Given the description of an element on the screen output the (x, y) to click on. 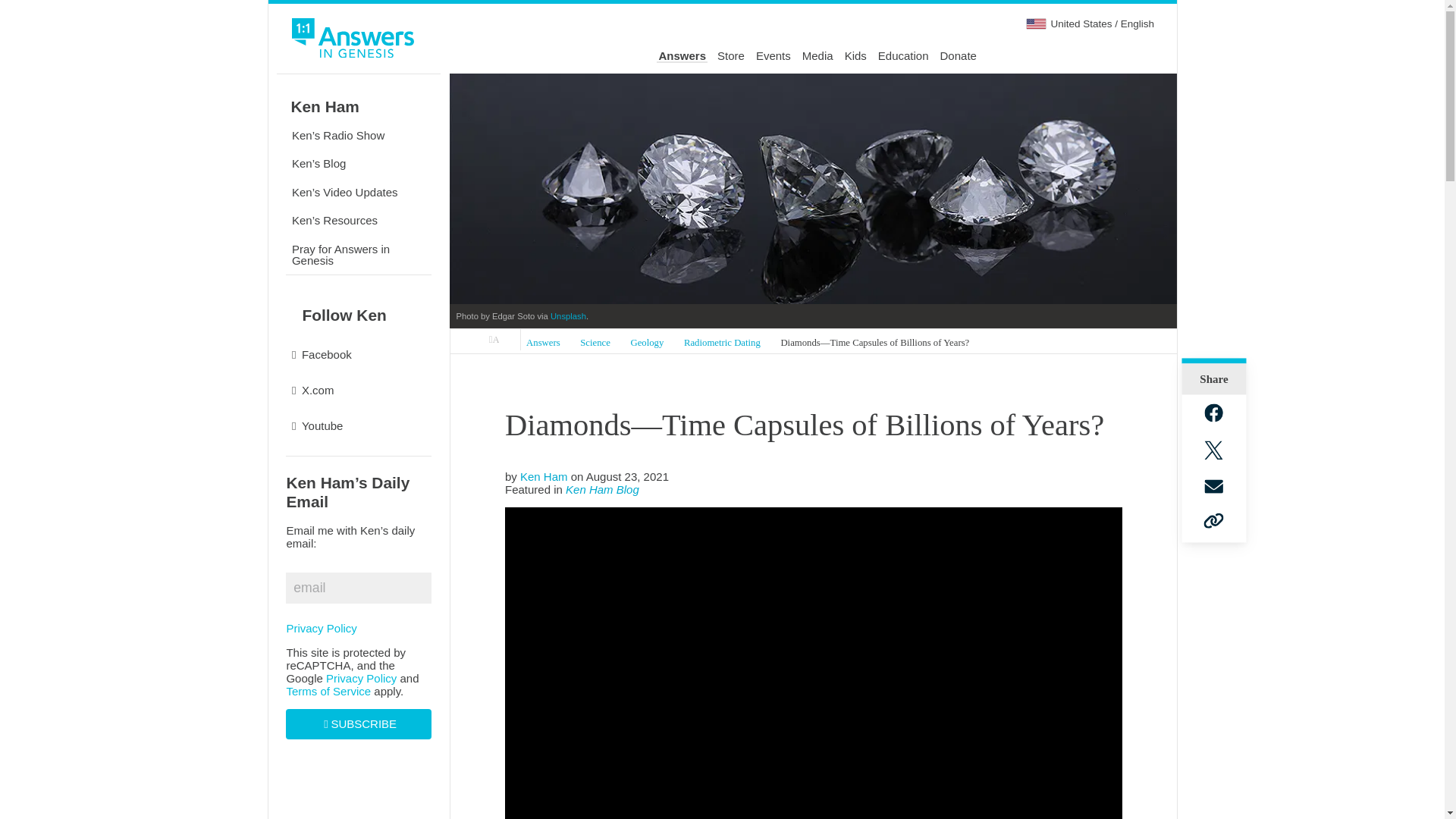
Events (772, 55)
Radiometric Dating (721, 342)
Answers (543, 342)
Science (595, 342)
Unsplash (568, 316)
Geology (646, 342)
Media (817, 55)
Answers in Genesis (494, 339)
Ken Ham Blog (602, 489)
Answers in Genesis Home (353, 40)
